Given the description of an element on the screen output the (x, y) to click on. 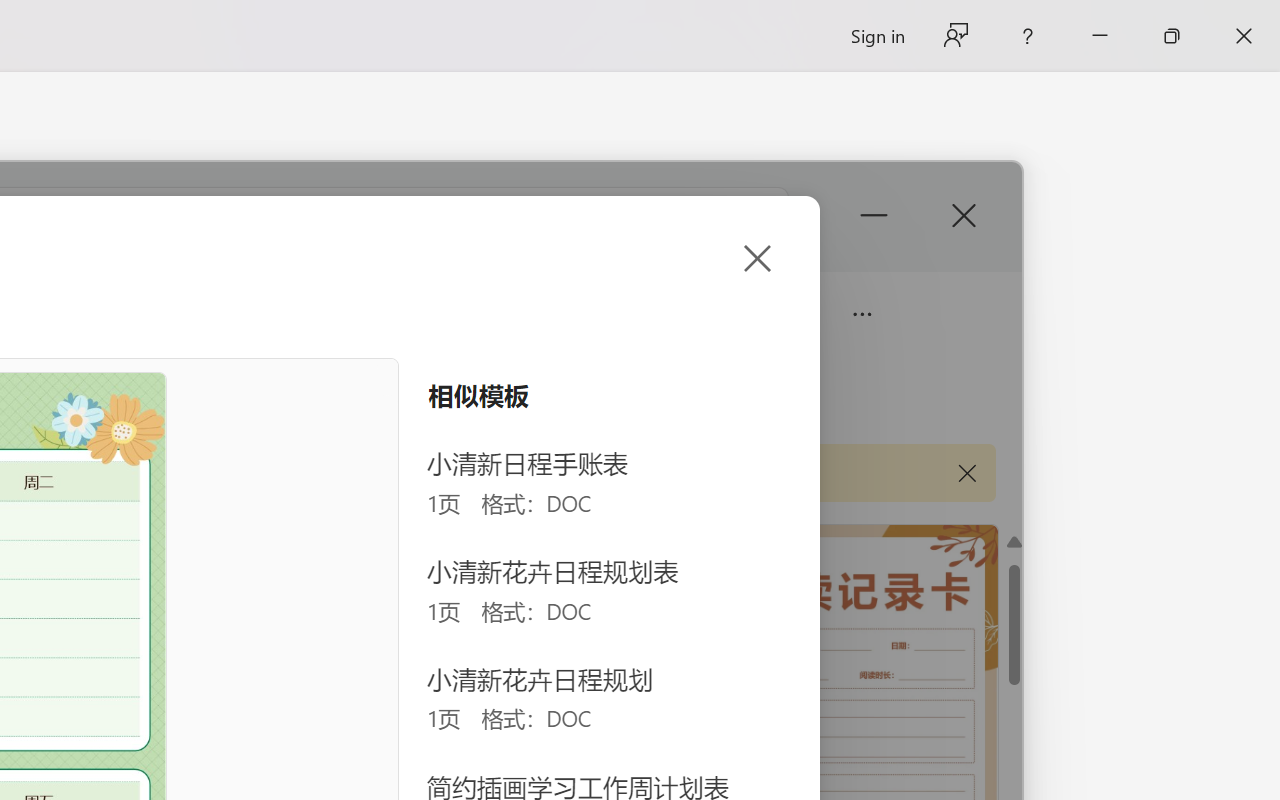
Sign in (875, 35)
